Given the description of an element on the screen output the (x, y) to click on. 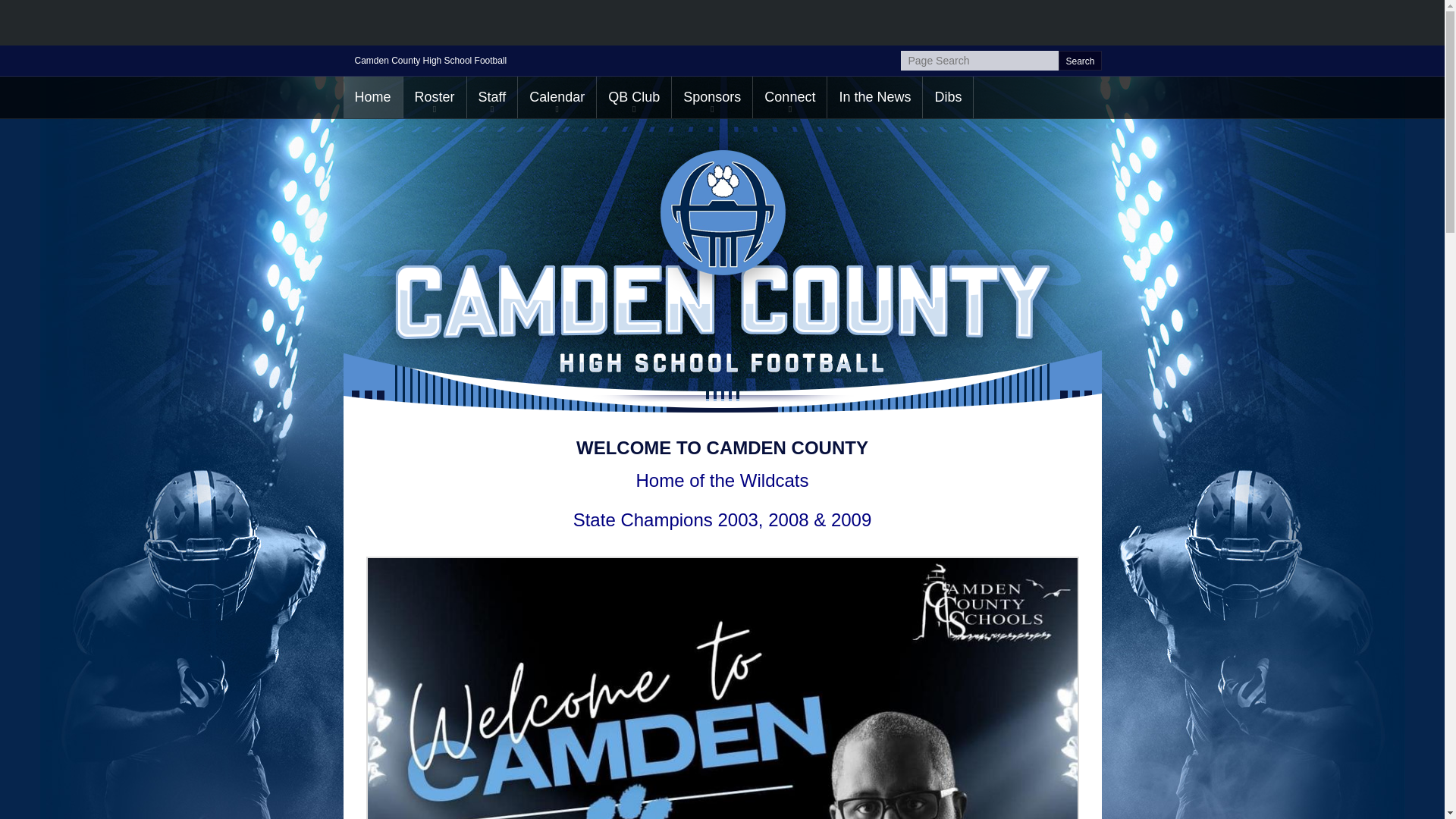
Dibs (947, 96)
In the News (874, 96)
click to go to 'Calendar' (556, 96)
click to go to 'Connect' (789, 96)
Connect (789, 96)
Staff (492, 96)
Sponsors (711, 96)
click to go to 'Support Our Sponsors' (711, 96)
Roster (434, 96)
Dibs (947, 96)
click to go to 'Staff' (492, 96)
click to go to 'QB Club ' (633, 96)
QB Club (633, 96)
click to go to 'In the News' (874, 96)
Calendar (556, 96)
